Given the description of an element on the screen output the (x, y) to click on. 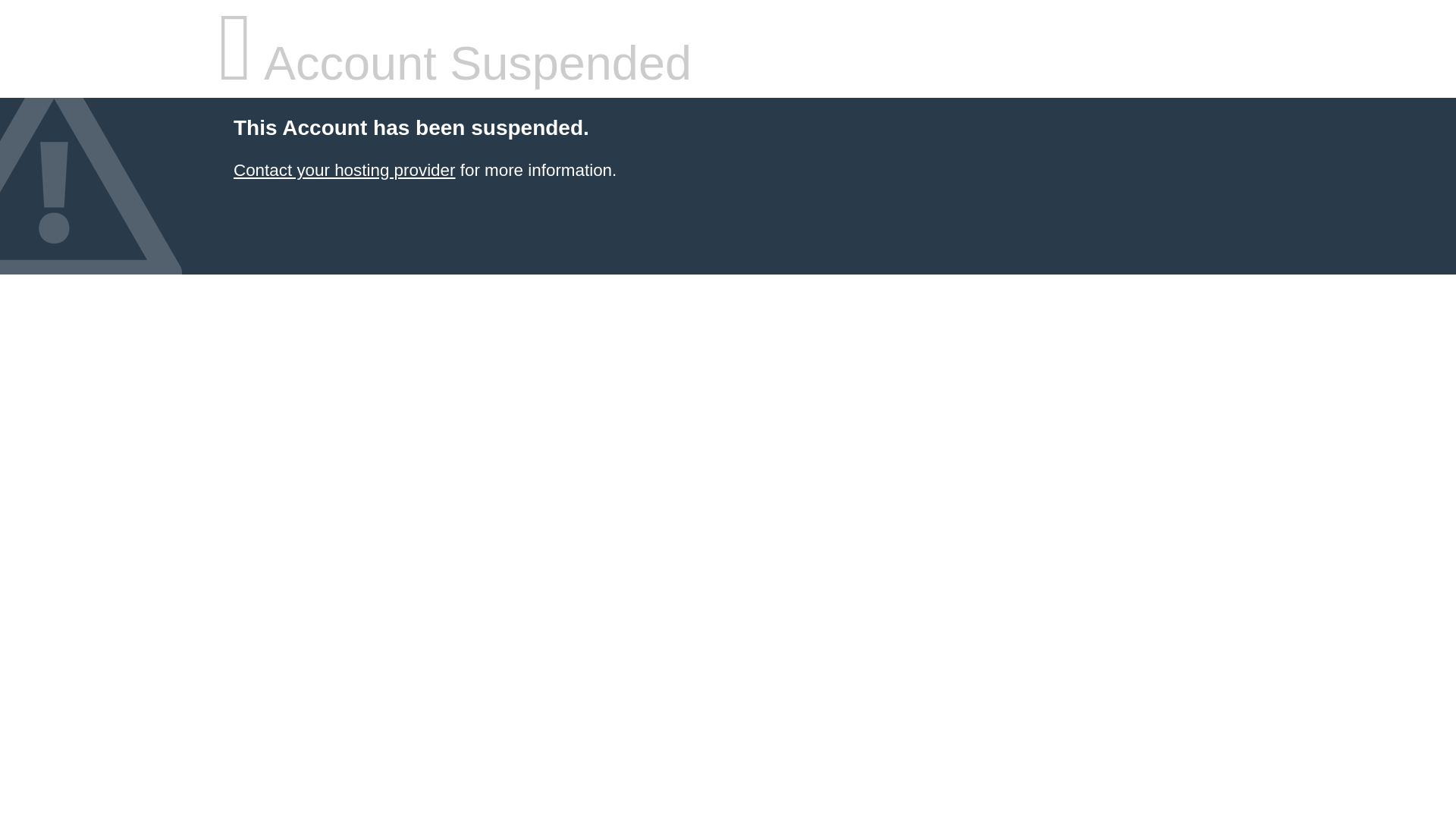
Contact your hosting provider (343, 169)
